Given the description of an element on the screen output the (x, y) to click on. 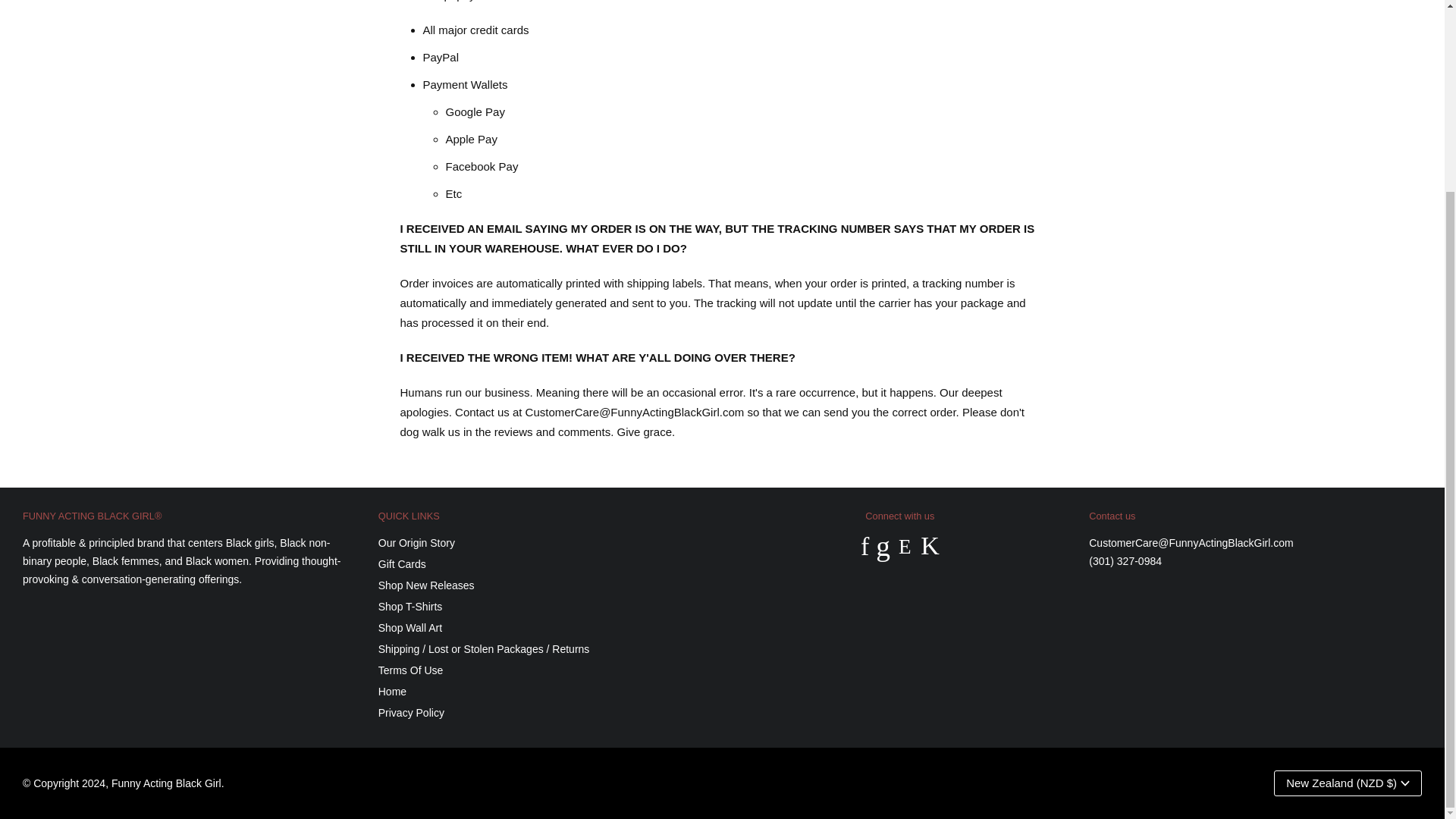
Funny Acting Black Girl on Tiktok (929, 546)
Funny Acting Black Girl on Instagram (904, 546)
Funny Acting Black Girl on Facebook (864, 546)
Funny Acting Black Girl on X (882, 546)
